Given the description of an element on the screen output the (x, y) to click on. 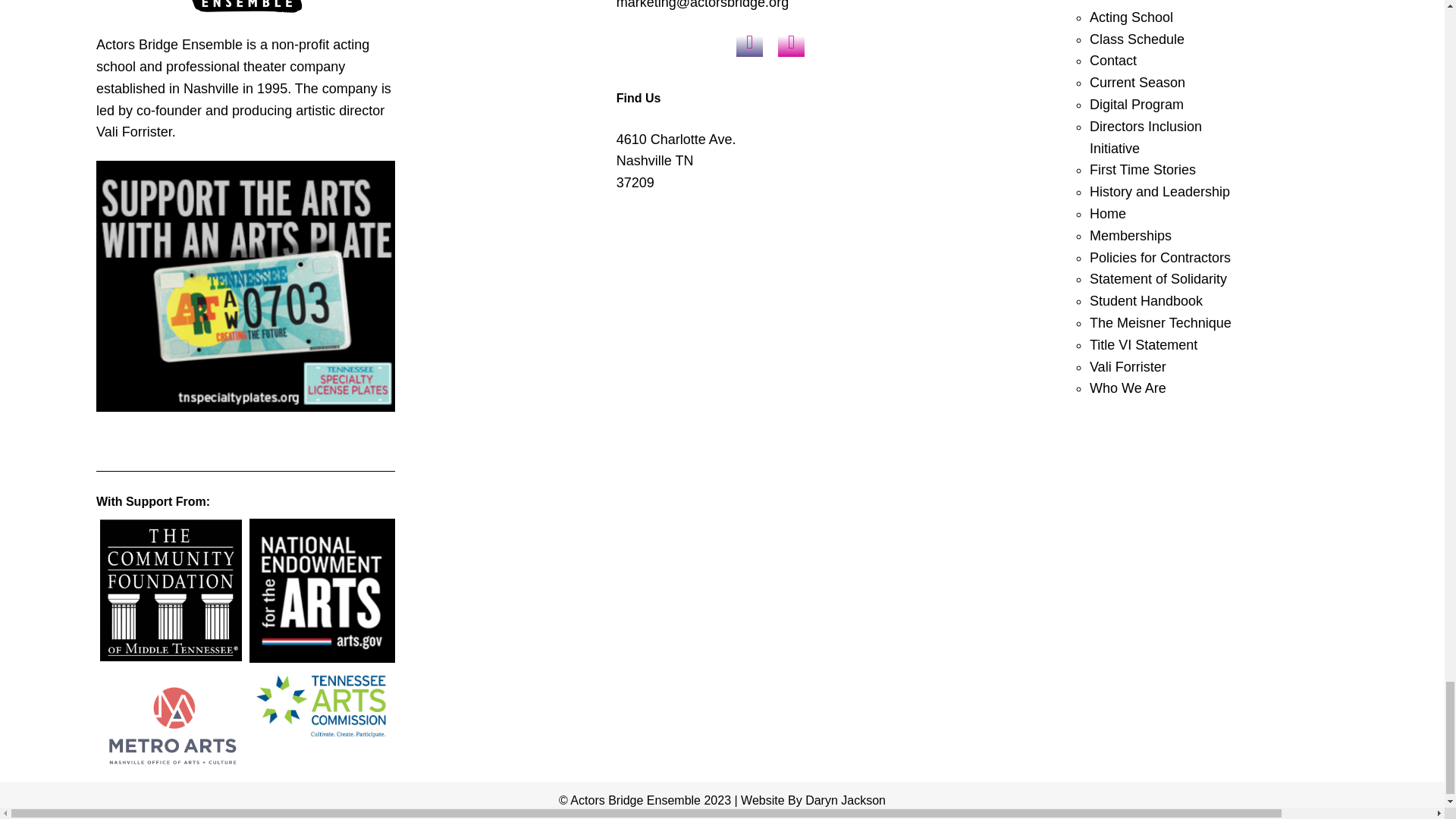
4610 Charlotte Ave Nashville TN (769, 321)
